Given the description of an element on the screen output the (x, y) to click on. 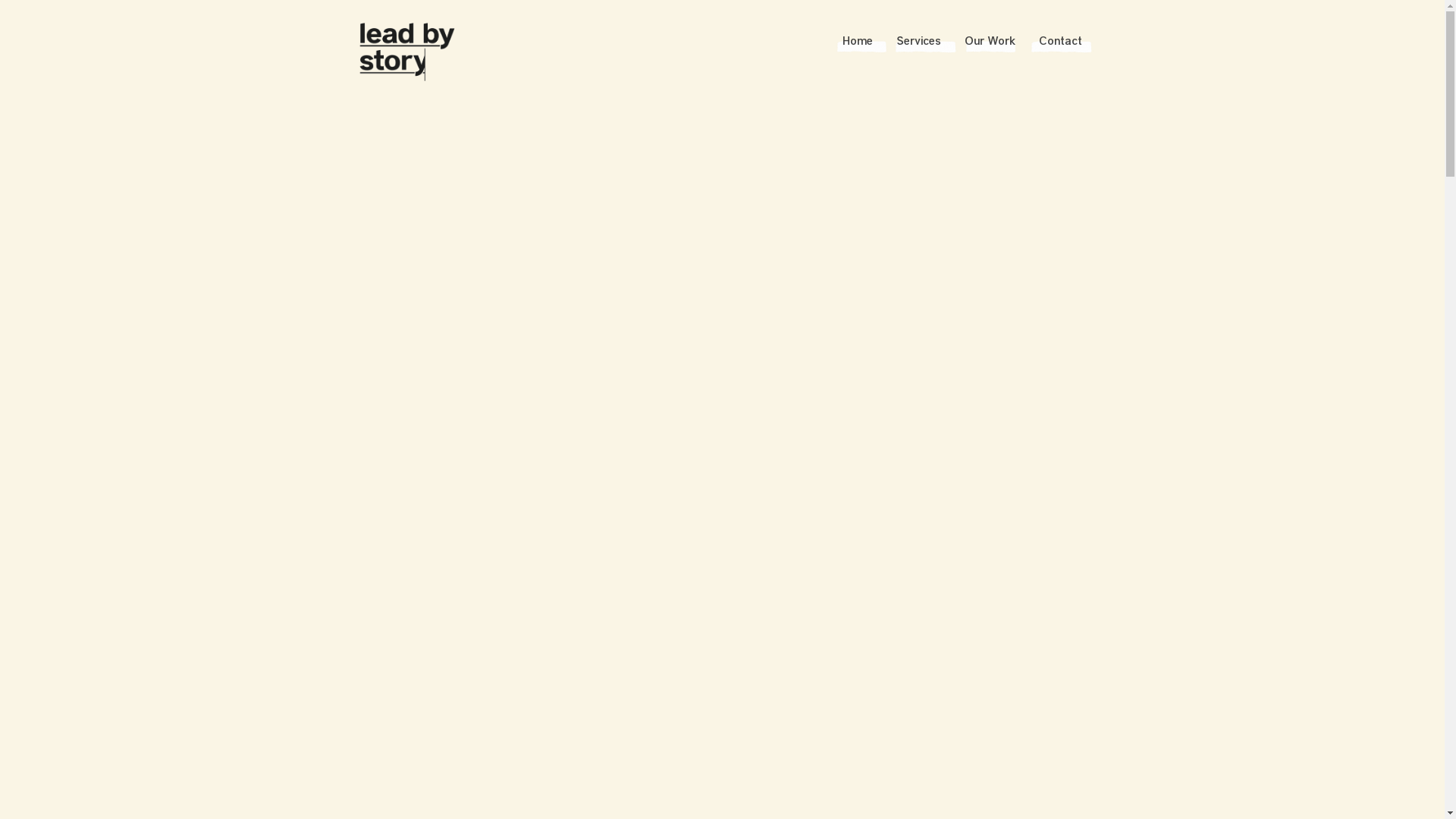
Embedded Content Element type: hover (722, 345)
Contact Element type: text (1059, 41)
Home Element type: text (856, 41)
Services Element type: text (917, 41)
Our Work Element type: text (989, 41)
